Given the description of an element on the screen output the (x, y) to click on. 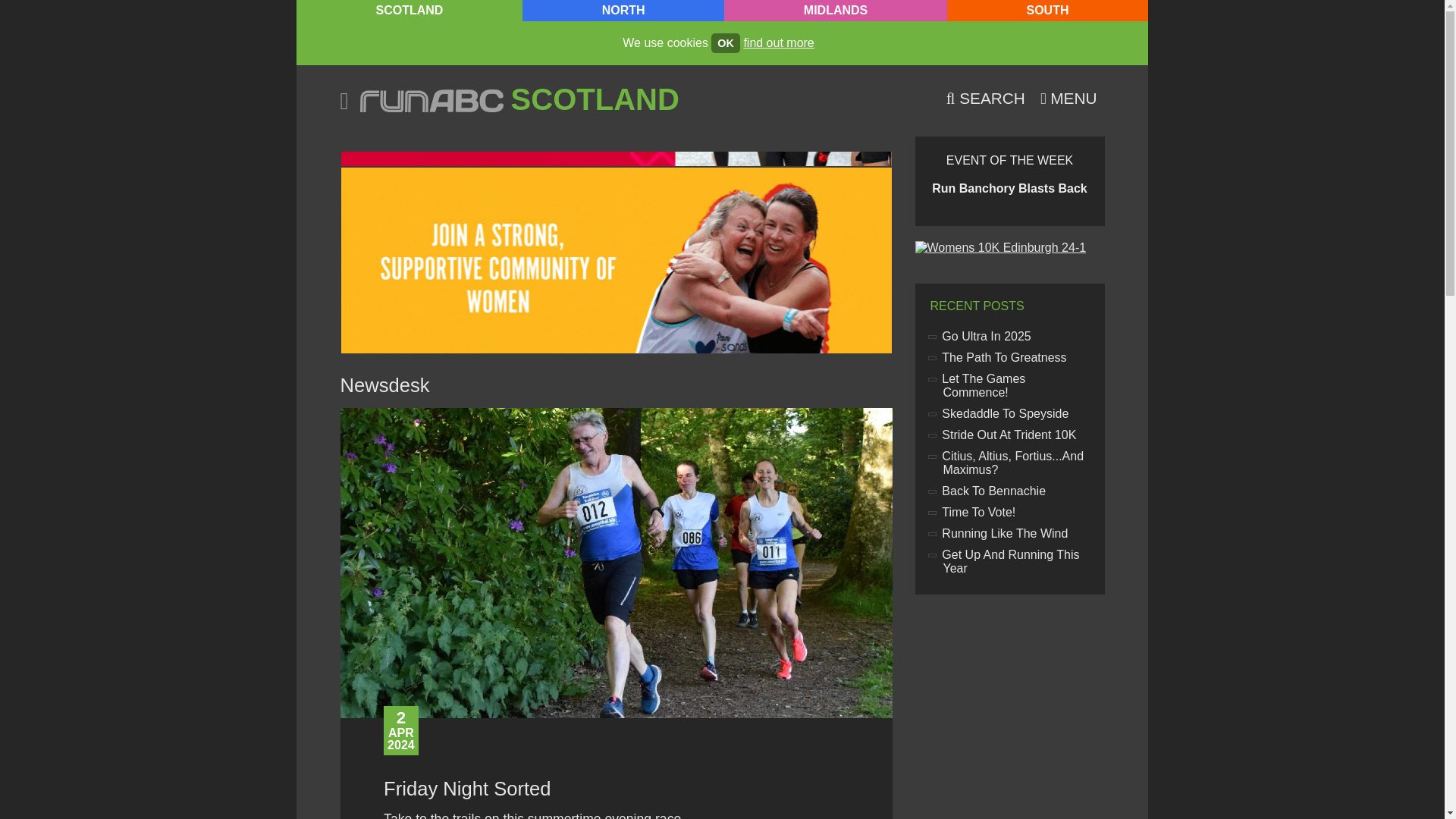
SCOTLAND (595, 99)
OK (725, 43)
NORTH (623, 10)
SEARCH (985, 98)
Menu (1068, 98)
MENU (1068, 98)
find out more (777, 42)
MIDLANDS (834, 10)
SOUTH (1048, 10)
Search (985, 98)
SCOTLAND (409, 10)
